Given the description of an element on the screen output the (x, y) to click on. 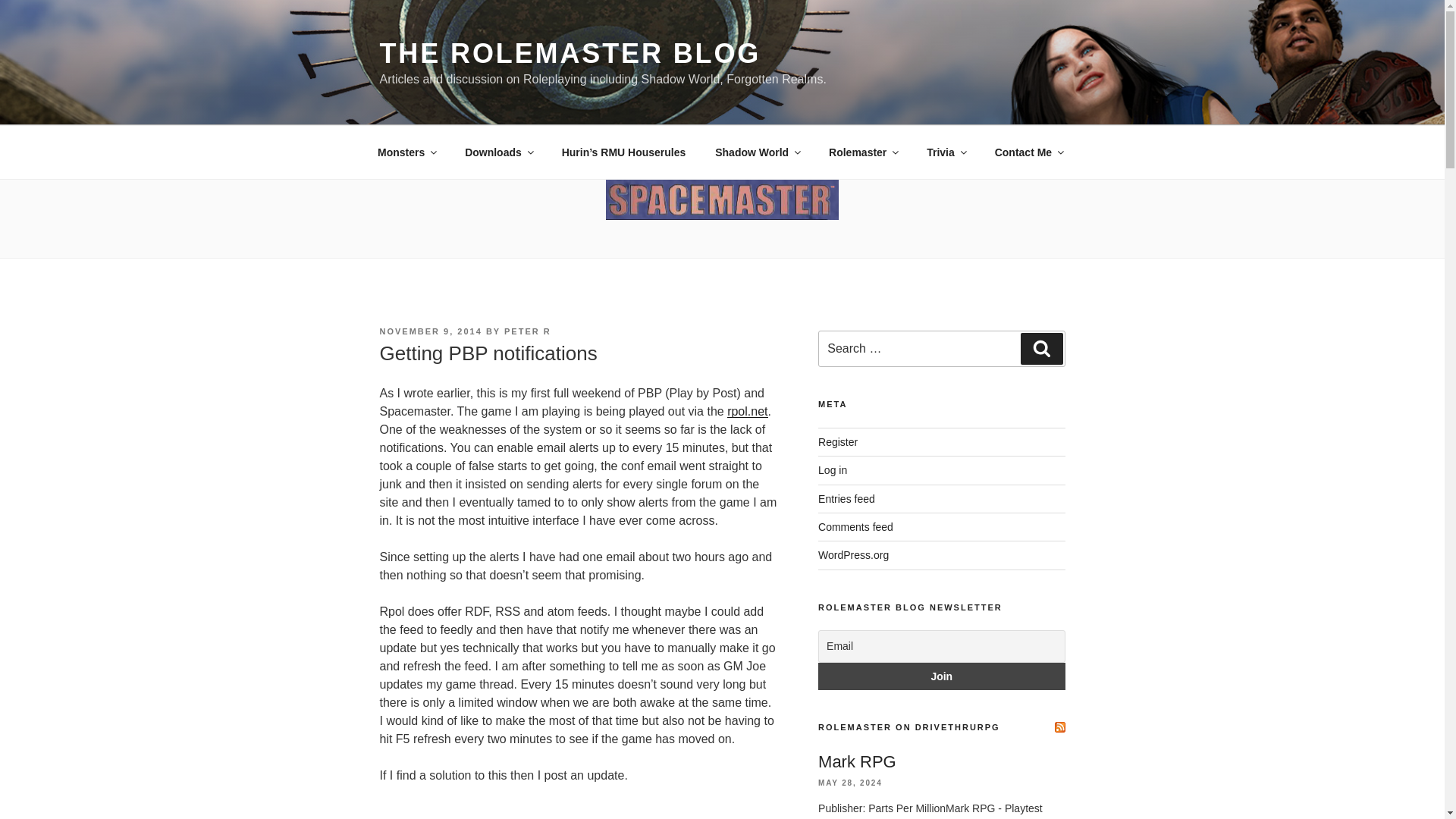
Role Paying Online (746, 410)
THE ROLEMASTER BLOG (569, 52)
Downloads (498, 151)
Join (941, 676)
Monsters (406, 151)
